Given the description of an element on the screen output the (x, y) to click on. 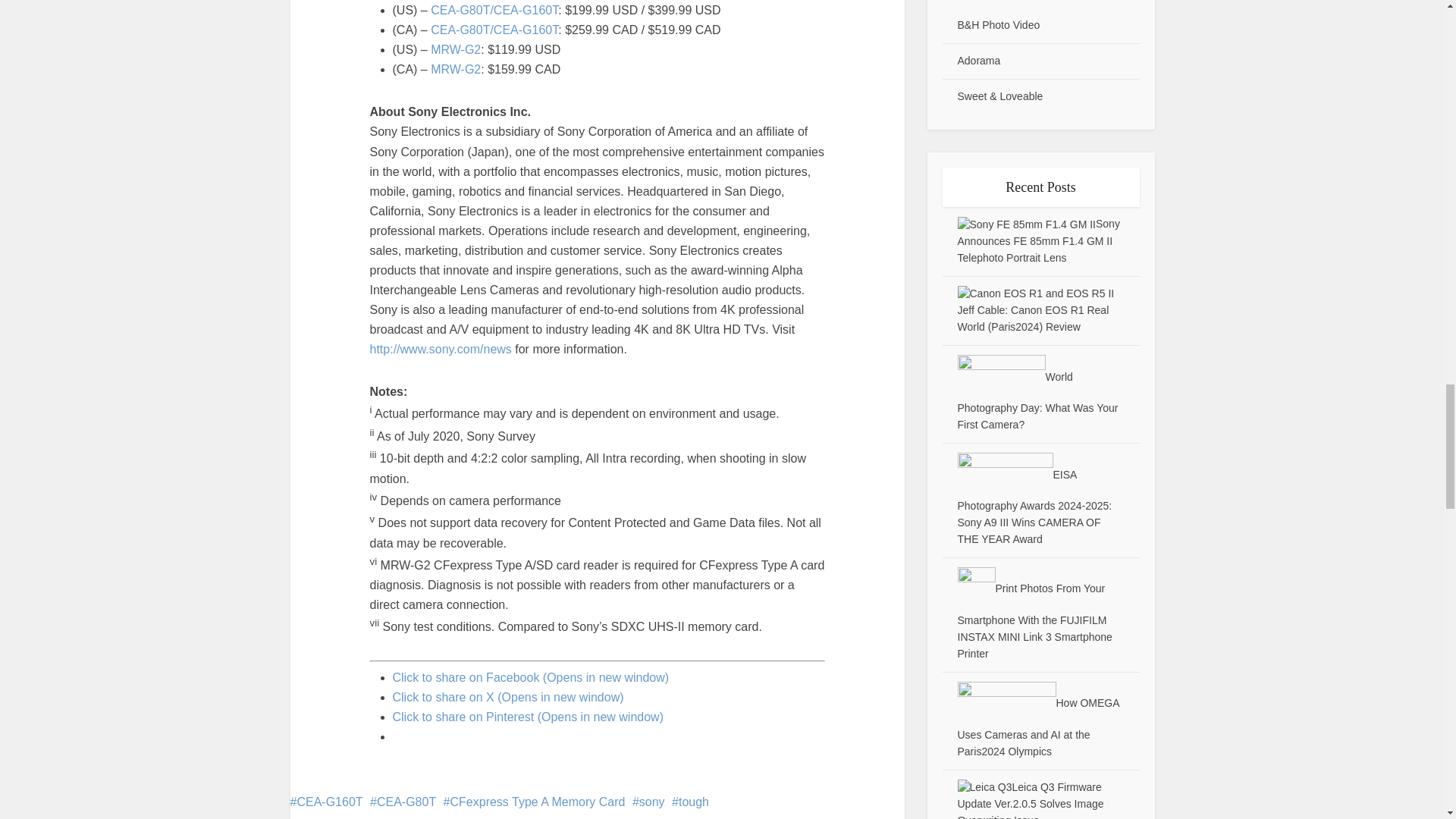
Click to share on Pinterest (528, 716)
tough (690, 801)
CFexpress Type A Memory Card (535, 801)
CEA-G80T (402, 801)
MRW-G2 (455, 49)
Click to share on X (508, 697)
MRW-G2 (455, 69)
Click to share on Facebook (531, 676)
CEA-G160T (325, 801)
sony (648, 801)
